Given the description of an element on the screen output the (x, y) to click on. 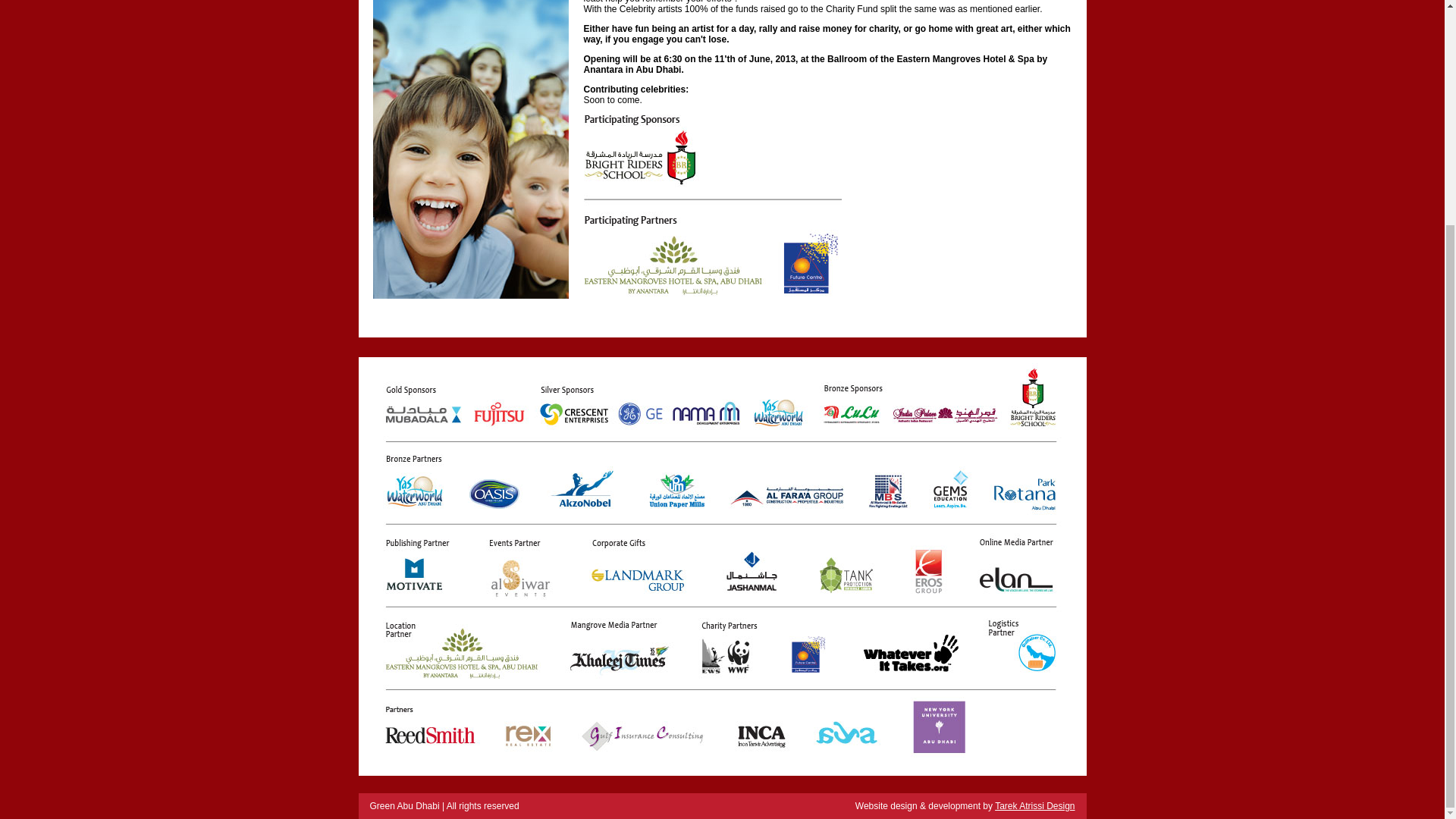
Tarek Atrissi Design (1034, 805)
